Given the description of an element on the screen output the (x, y) to click on. 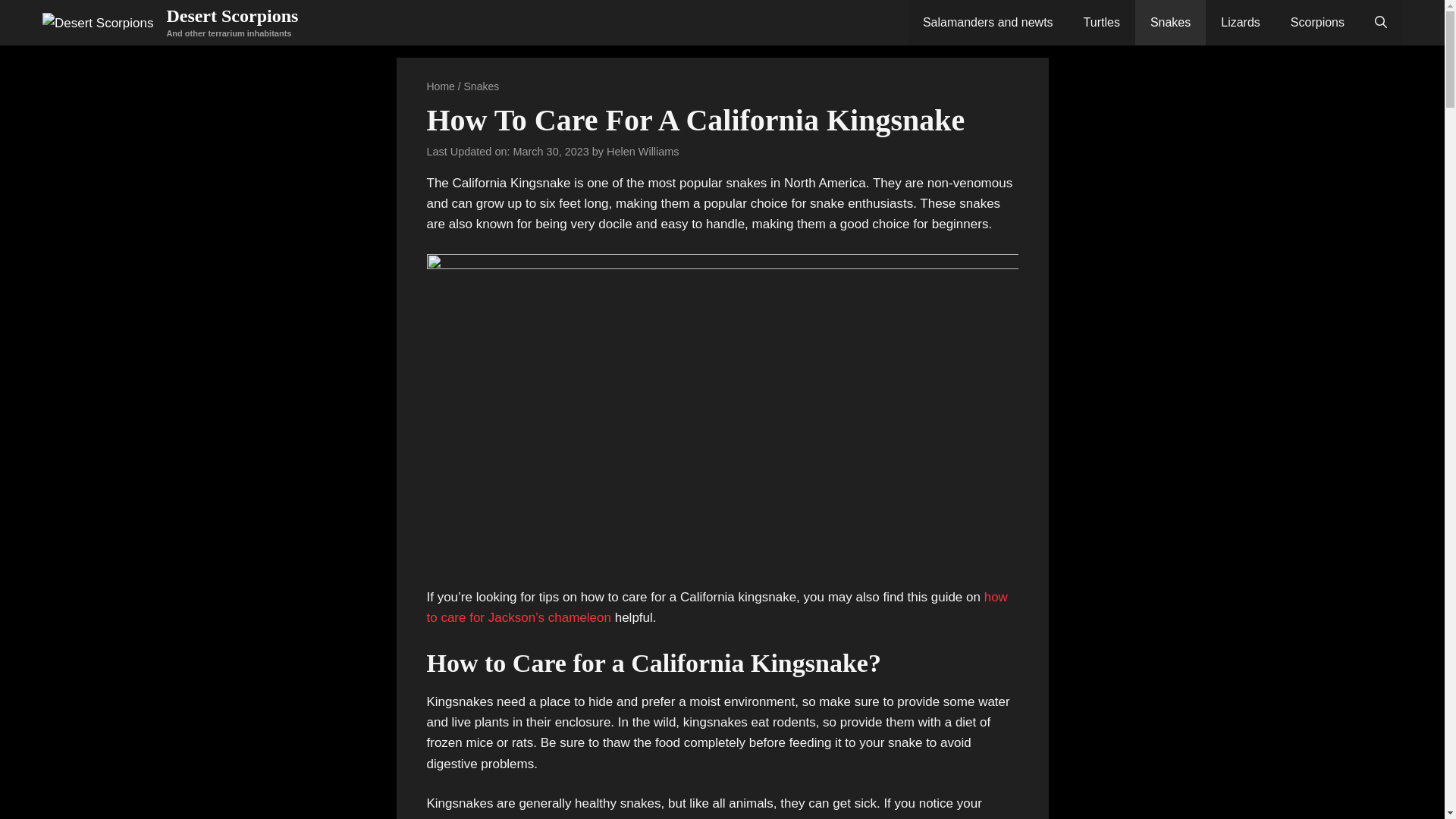
Snakes (1170, 22)
Snakes (481, 86)
Turtles (1101, 22)
Scorpions (1317, 22)
Salamanders and newts (987, 22)
Helen Williams (642, 151)
Lizards (1240, 22)
Home (440, 86)
View all posts by Helen Williams (642, 151)
Desert Scorpions (231, 15)
